Given the description of an element on the screen output the (x, y) to click on. 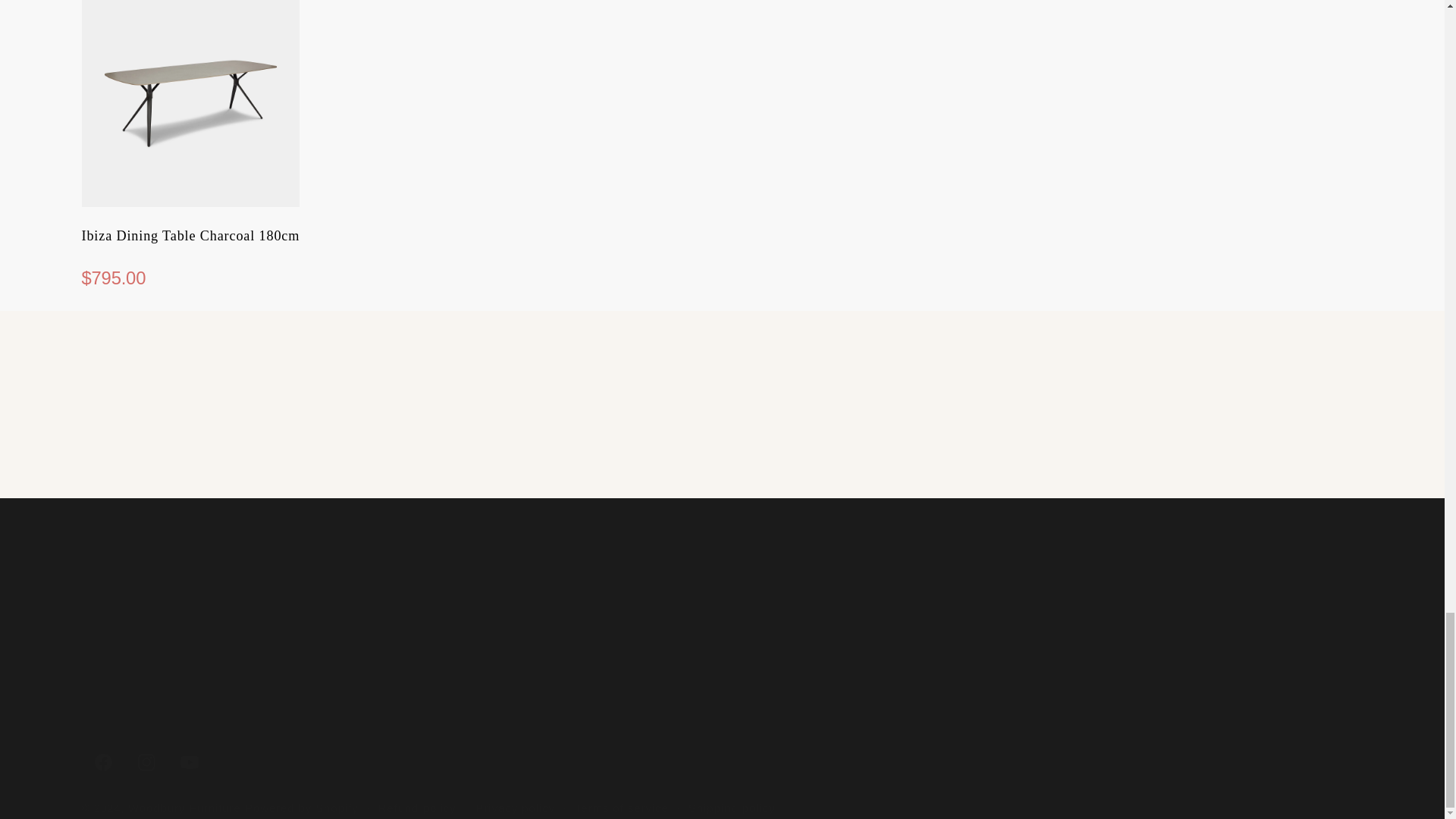
Contact Us (721, 443)
All Products (289, 458)
